Given the description of an element on the screen output the (x, y) to click on. 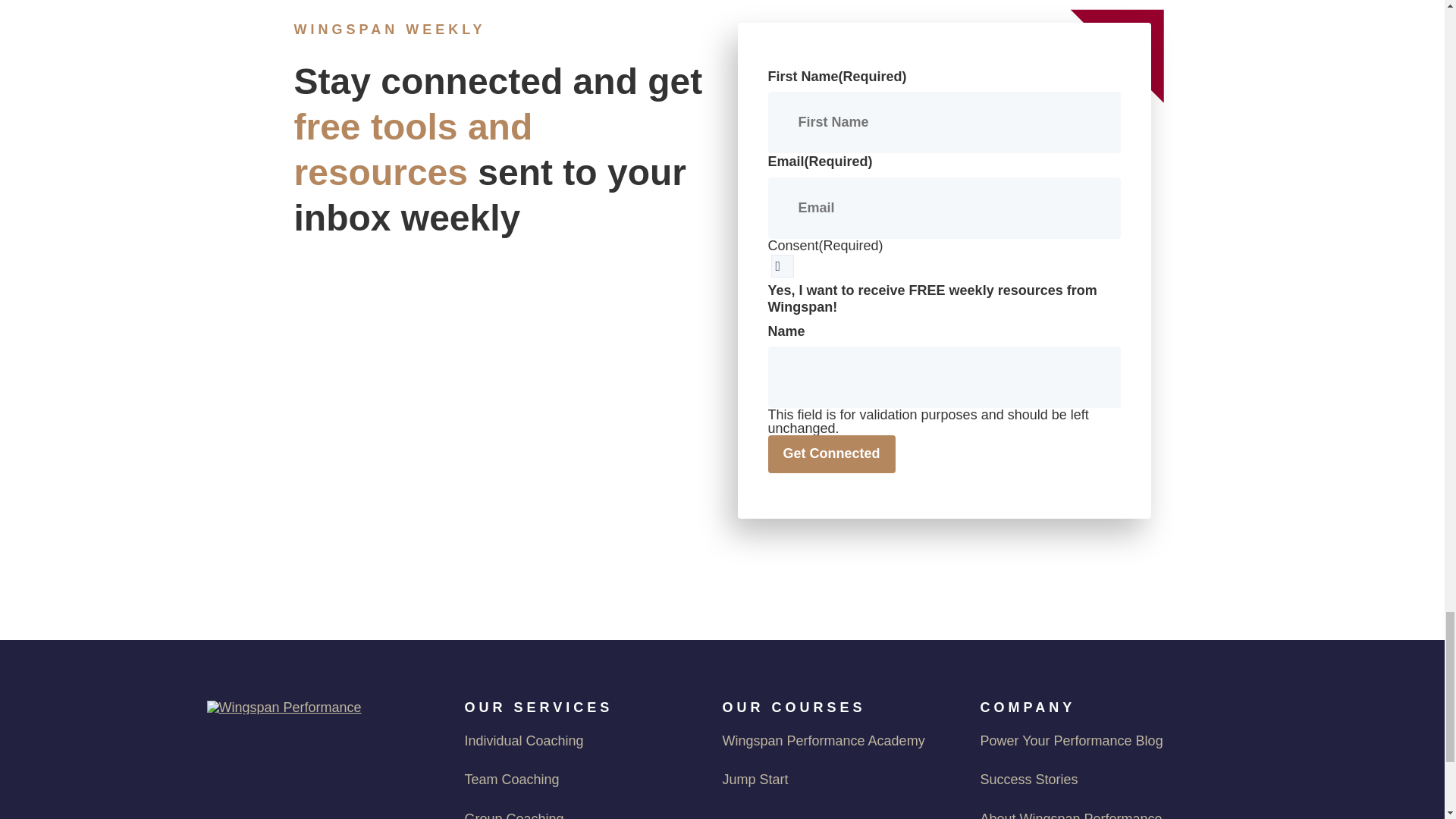
Power Your Performance Blog (1096, 741)
Get Connected (831, 453)
OUR COURSES (839, 707)
Yes, I want to receive FREE weekly resources from Wingspan! (781, 265)
Wingspan Performance Academy (839, 741)
Jump Start (839, 780)
Group Coaching (581, 813)
Team Coaching (581, 780)
COMPANY (1096, 707)
Individual Coaching (581, 741)
